Given the description of an element on the screen output the (x, y) to click on. 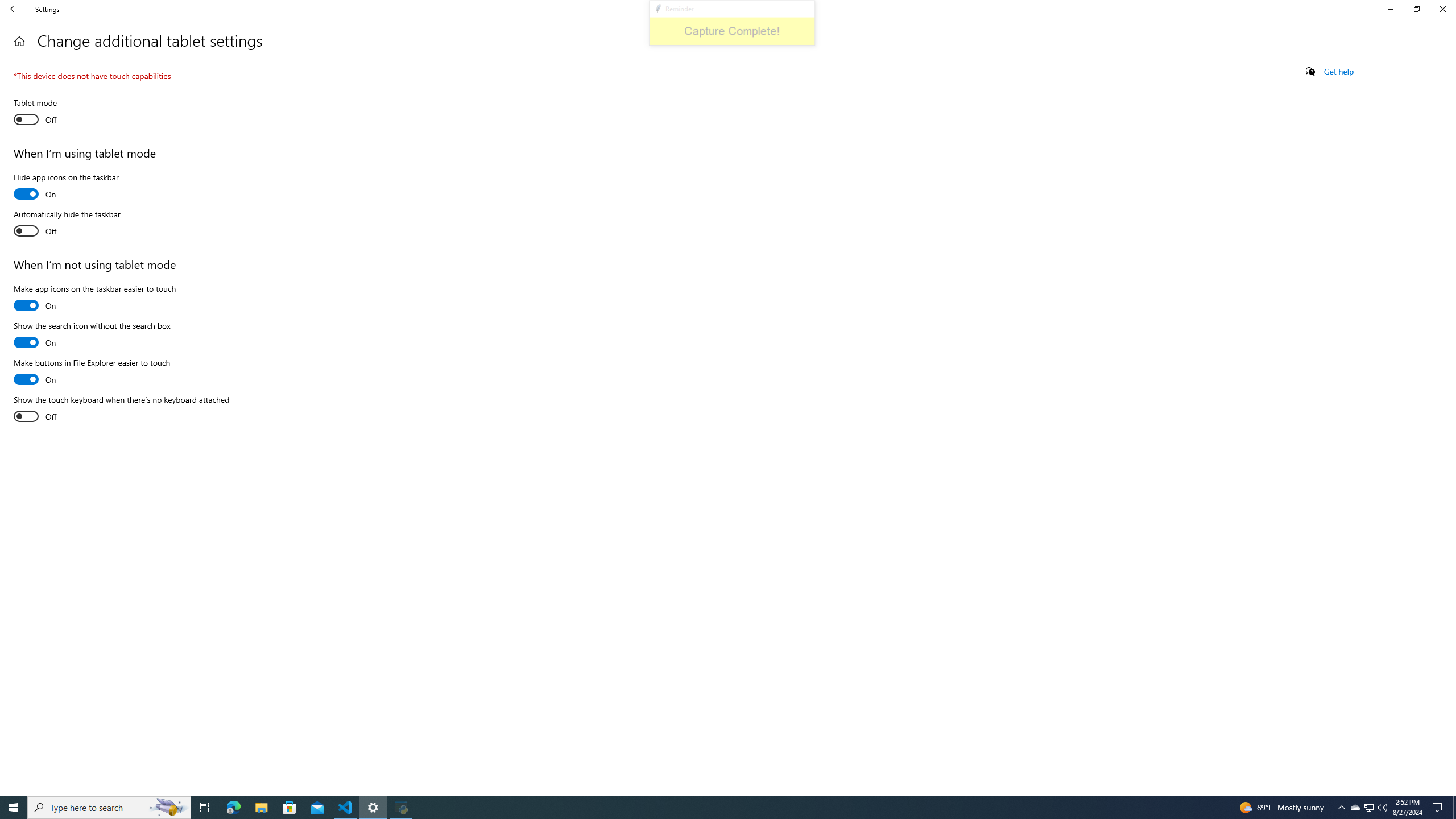
Hide app icons on the taskbar (66, 187)
Close Settings (1442, 9)
